Given the description of an element on the screen output the (x, y) to click on. 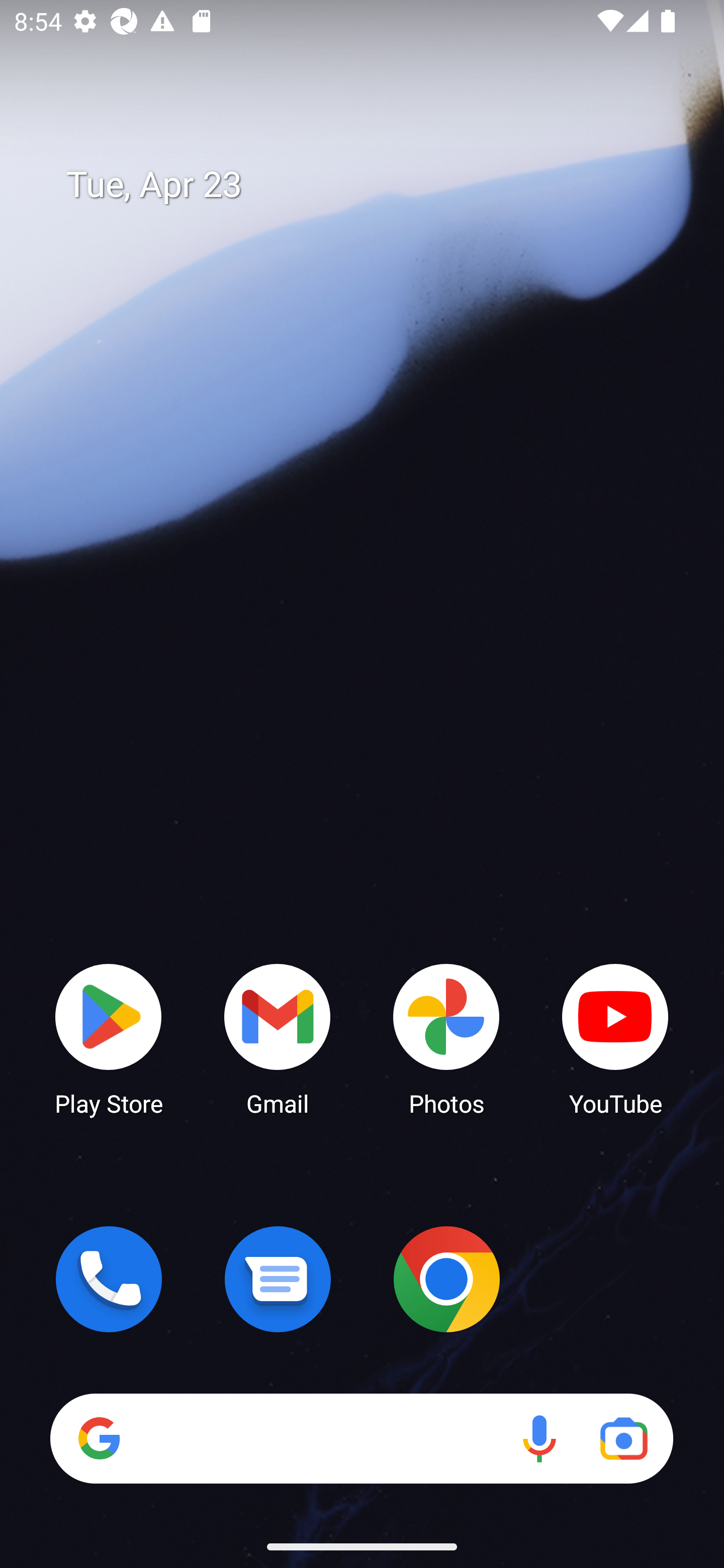
Tue, Apr 23 (375, 184)
Play Store (108, 1038)
Gmail (277, 1038)
Photos (445, 1038)
YouTube (615, 1038)
Phone (108, 1279)
Messages (277, 1279)
Chrome (446, 1279)
Search Voice search Google Lens (361, 1438)
Voice search (539, 1438)
Google Lens (623, 1438)
